Given the description of an element on the screen output the (x, y) to click on. 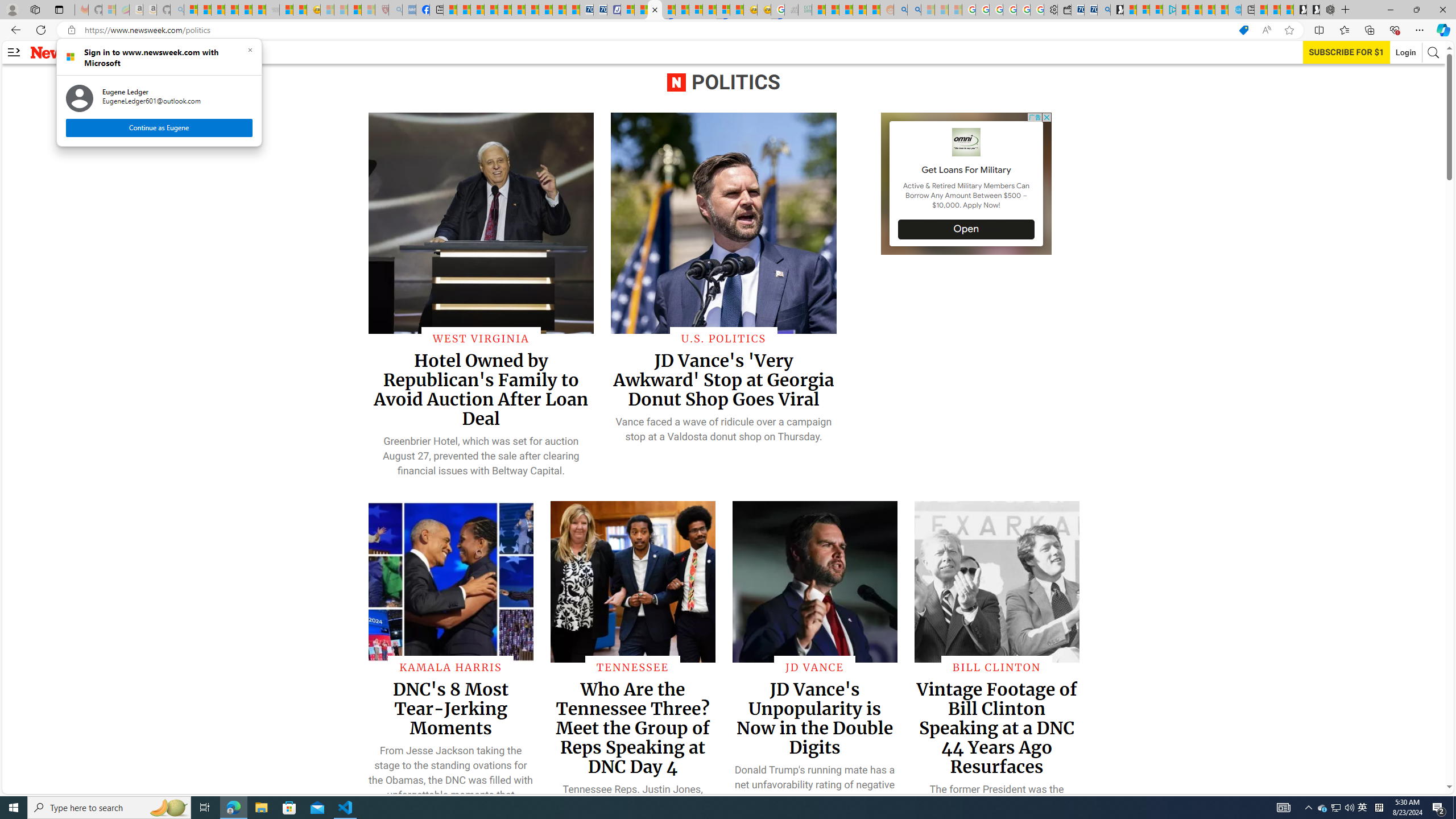
Latest Politics News & Archive | Newsweek.com (654, 9)
U.S. POLITICS (724, 338)
Tray Input Indicator - Chinese (Simplified, China) (1362, 807)
